Given the description of an element on the screen output the (x, y) to click on. 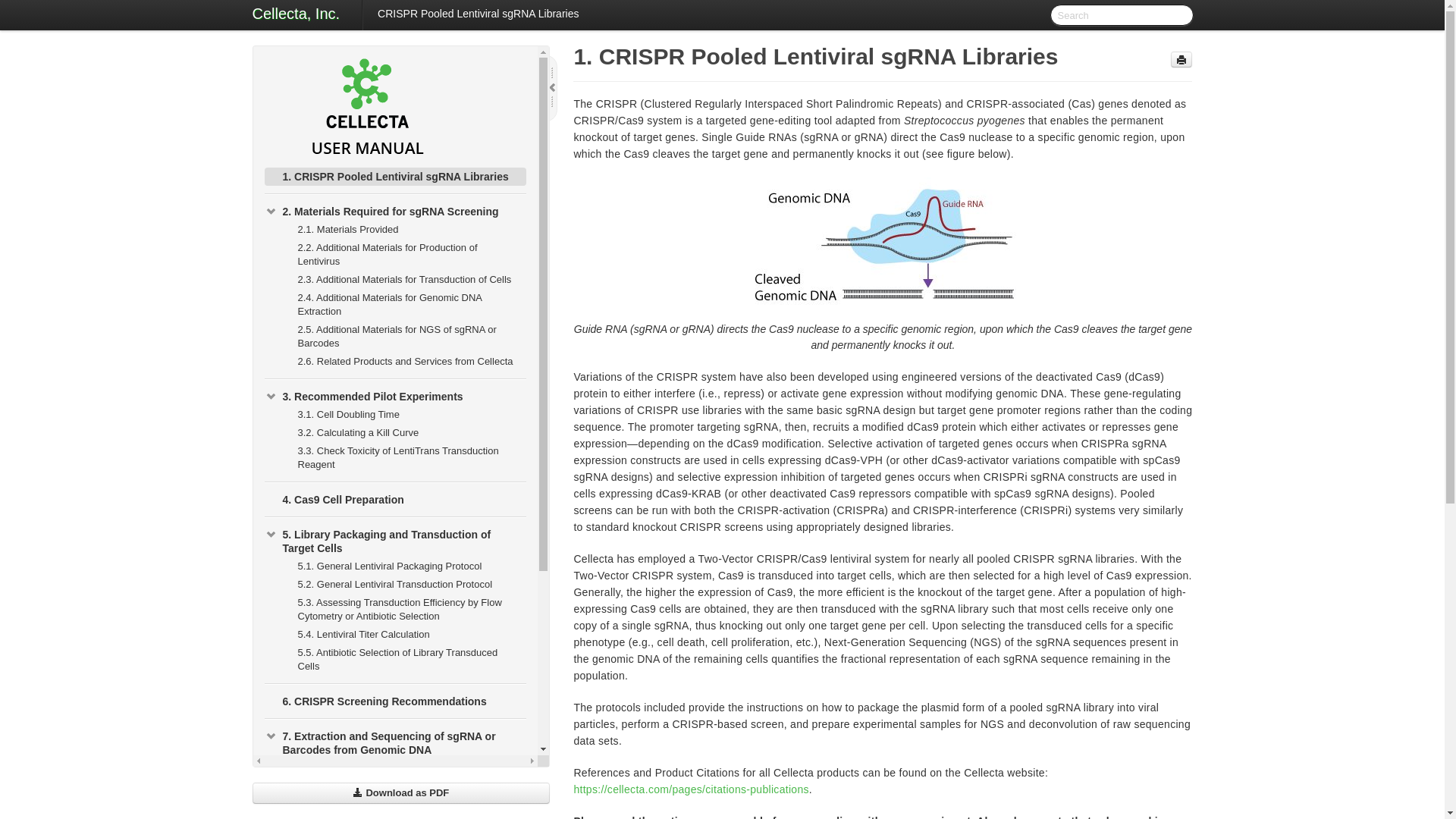
Print page (1181, 59)
Cellecta, Inc. (295, 15)
CRISPR Pooled Lentiviral sgRNA Libraries (477, 14)
2. Materials Required for sgRNA Screening (394, 211)
1. CRISPR Pooled Lentiviral sgRNA Libraries (394, 176)
